Given the description of an element on the screen output the (x, y) to click on. 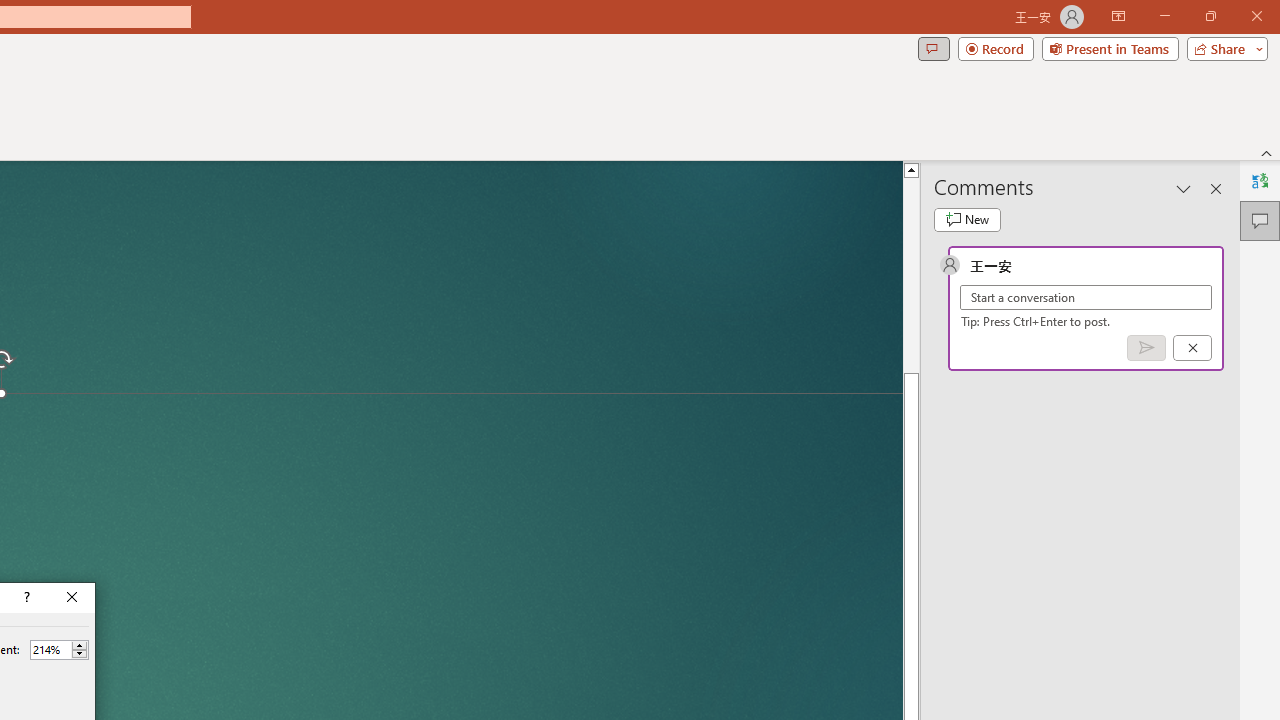
Context help (25, 597)
Percent (50, 649)
Percent (59, 650)
New comment (967, 219)
Cancel (1192, 347)
